Given the description of an element on the screen output the (x, y) to click on. 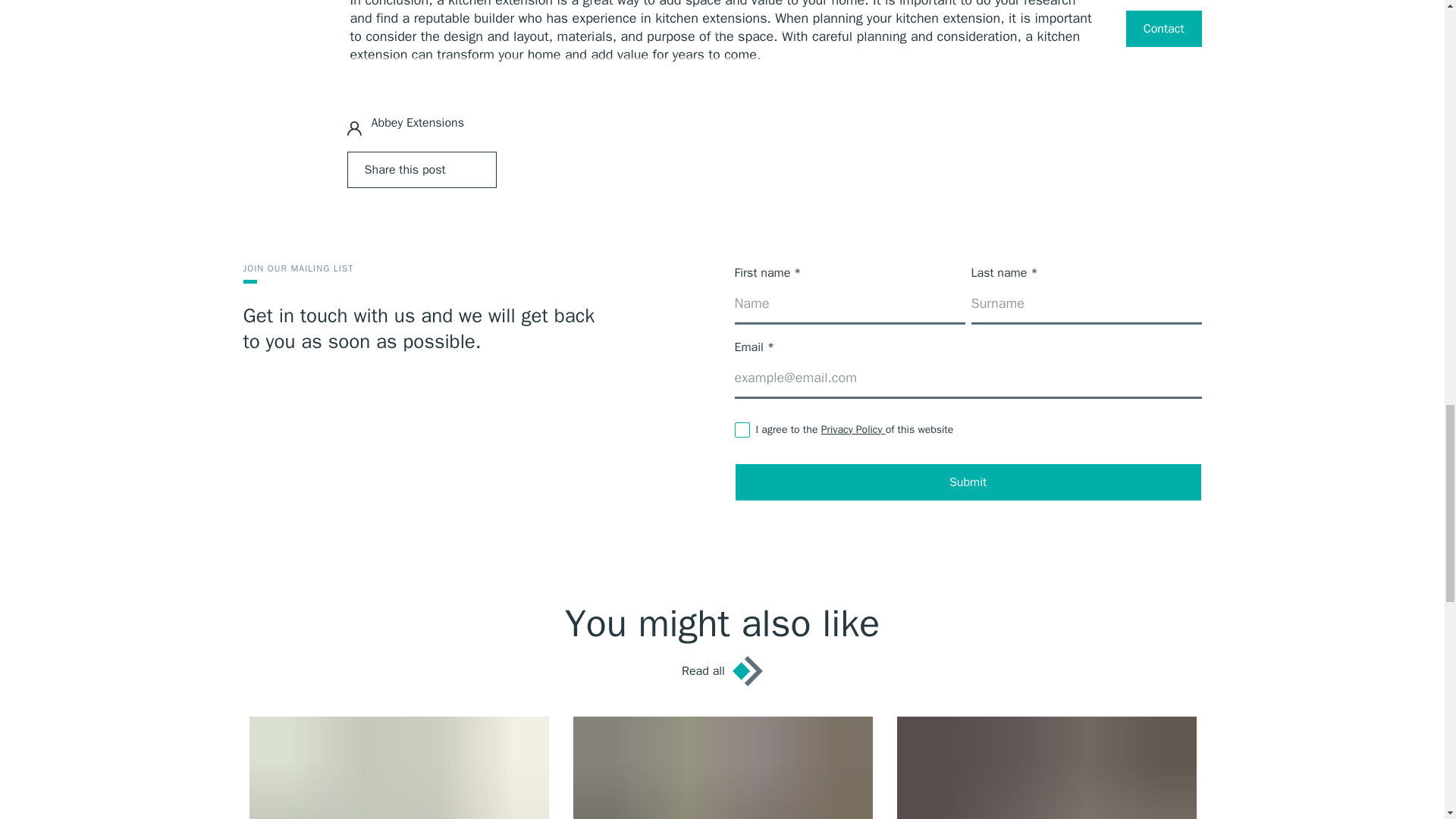
Read all (721, 671)
1 (741, 429)
Privacy Policy (853, 429)
Share this post (421, 169)
Submit (968, 482)
